Given the description of an element on the screen output the (x, y) to click on. 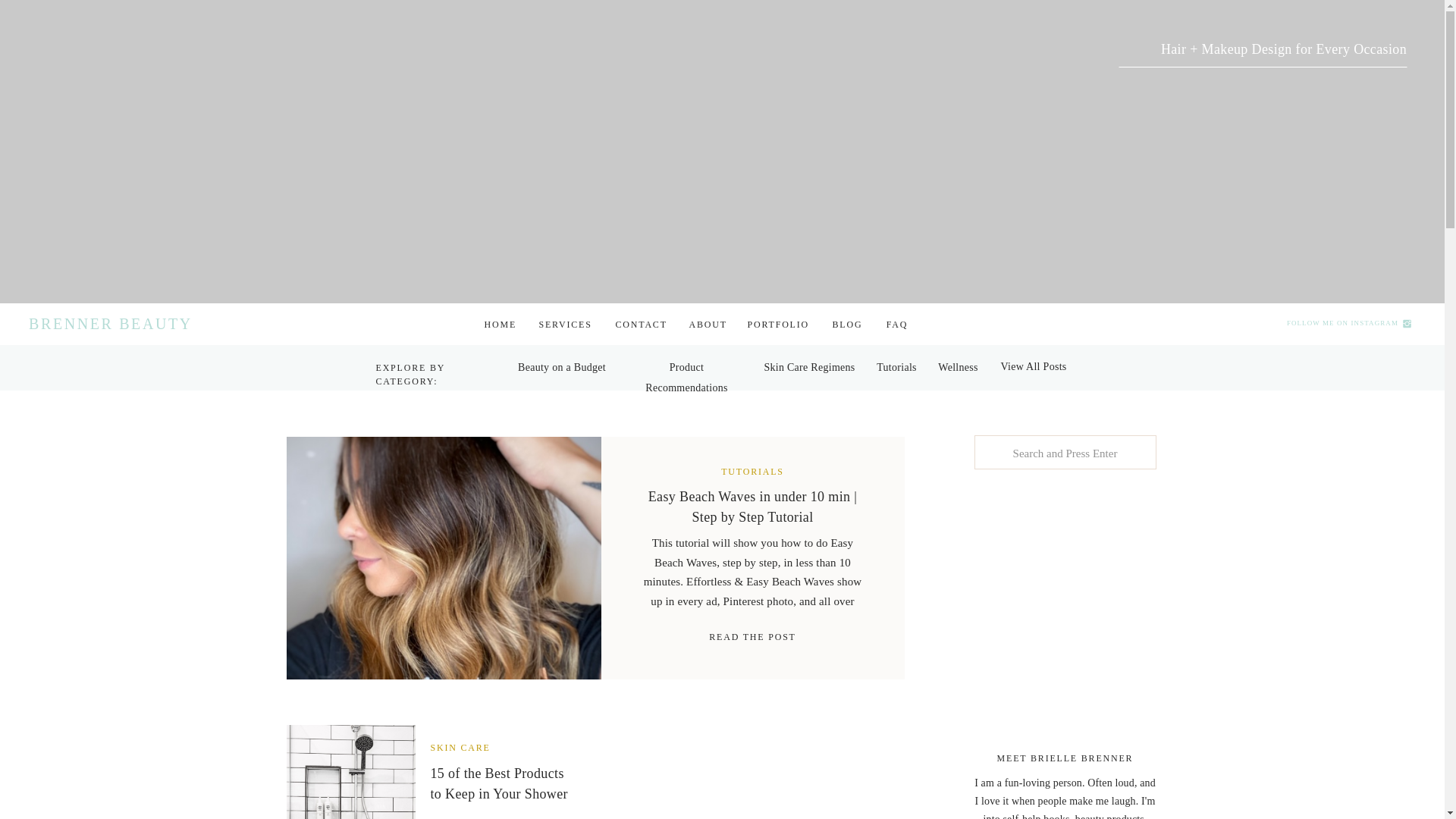
TUTORIALS (752, 471)
15 of the Best Products to Keep in Your Shower (350, 771)
FAQ (895, 323)
Skin Care Regimens (809, 366)
HOME (498, 323)
View All Posts (1033, 366)
BRENNER BEAUTY (116, 323)
15 of the Best Products to Keep in Your Shower (498, 783)
SERVICES (564, 323)
BLOG (847, 323)
